Given the description of an element on the screen output the (x, y) to click on. 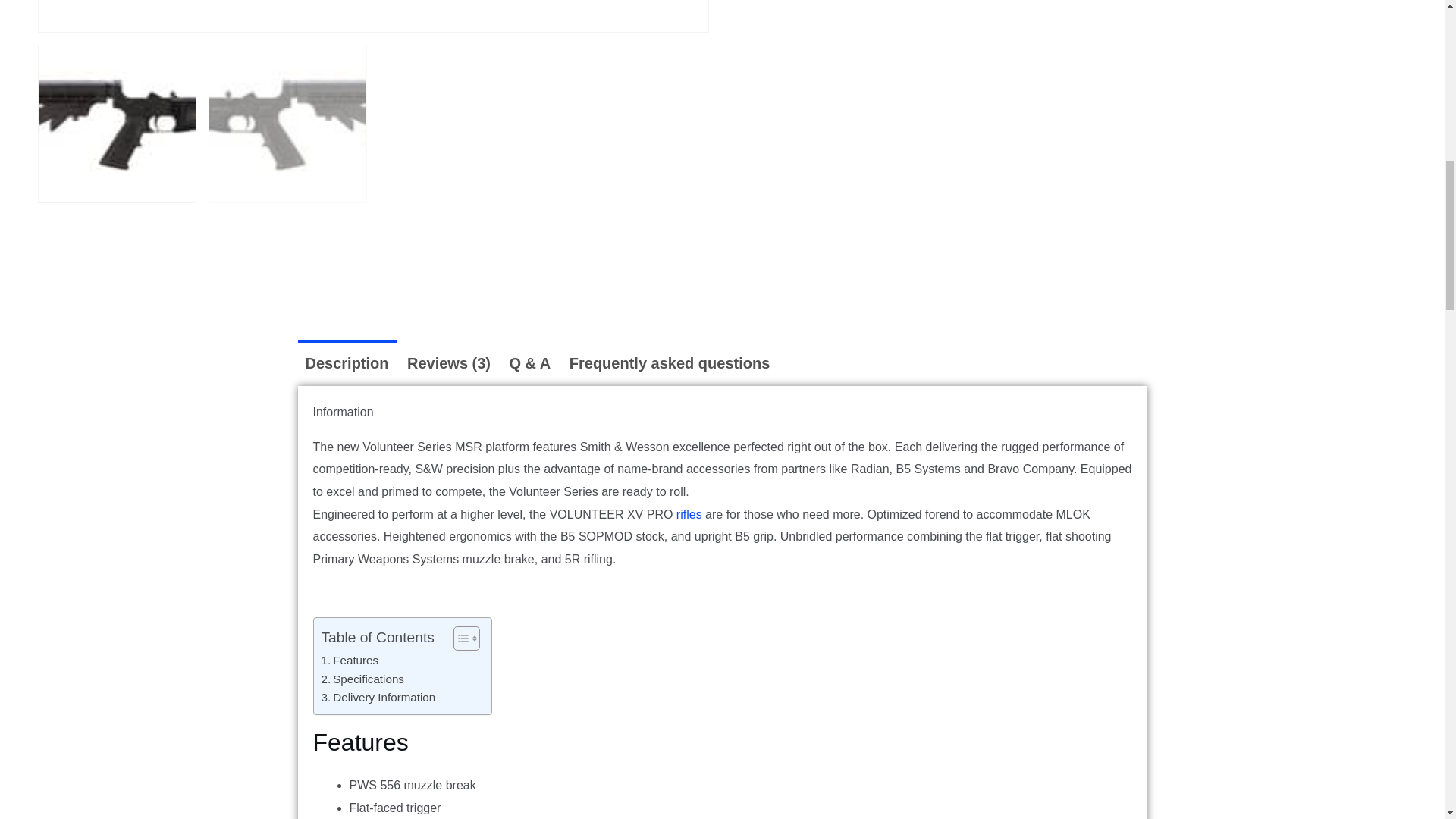
Rifles for Sale (689, 513)
Specifications (362, 679)
Features (349, 660)
Delivery Information (378, 697)
